Given the description of an element on the screen output the (x, y) to click on. 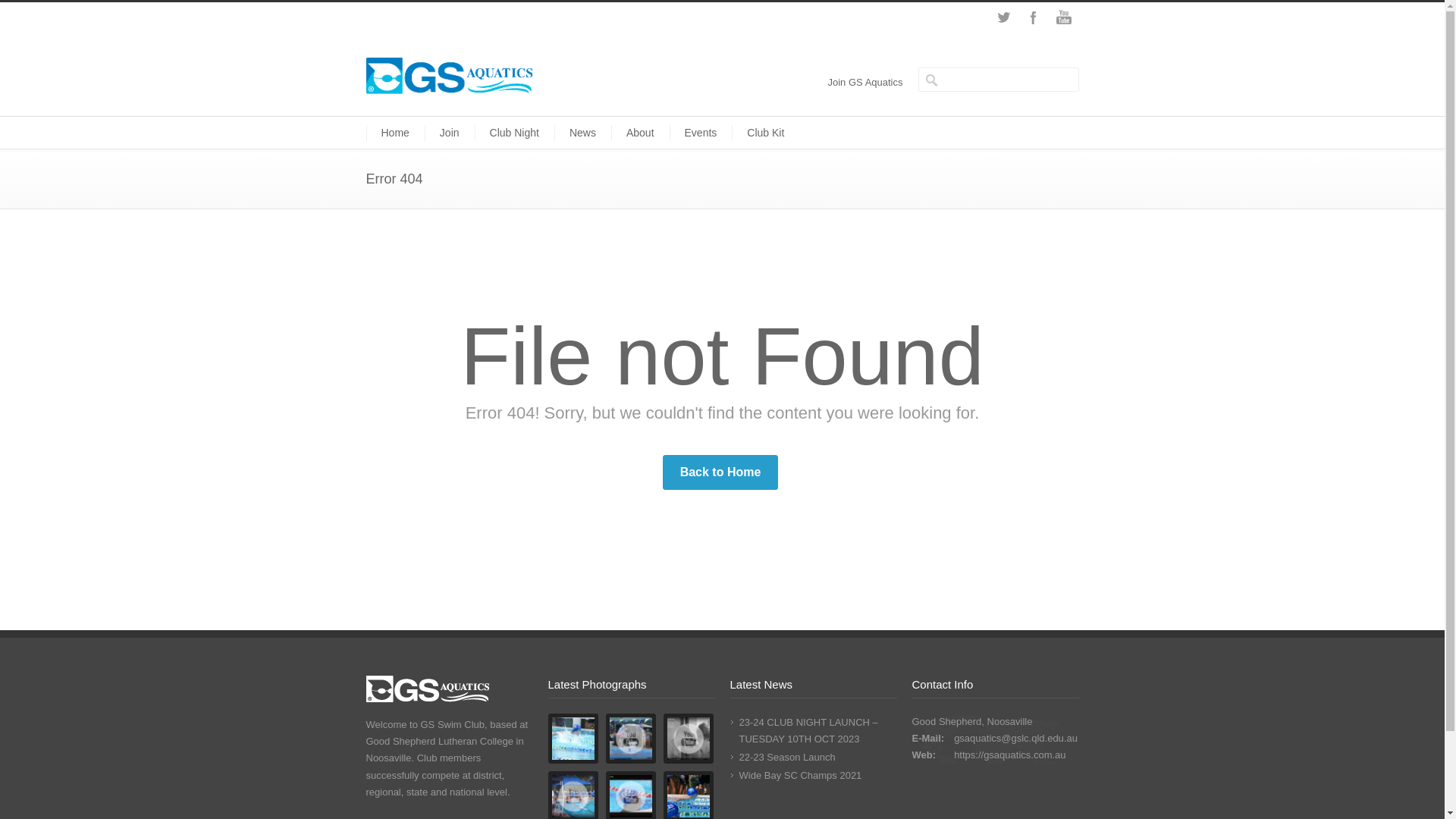
News Element type: text (582, 132)
Facebook Element type: text (1032, 17)
Wide Bay SC Champs 2021 Element type: text (799, 775)
Club Night Element type: text (514, 132)
Twitter Element type: text (1002, 17)
YouTube Element type: text (1063, 17)
22-23 Season Launch Element type: text (786, 756)
Home Element type: text (394, 132)
Club Kit Element type: text (765, 132)
Search Element type: text (68, 11)
Join Element type: text (449, 132)
Back to Home Element type: text (720, 472)
gsaquatics@gslc.qld.edu.au Element type: text (1015, 737)
https://gsaquatics.com.au Element type: text (1009, 754)
Events Element type: text (700, 132)
About Element type: text (640, 132)
